Given the description of an element on the screen output the (x, y) to click on. 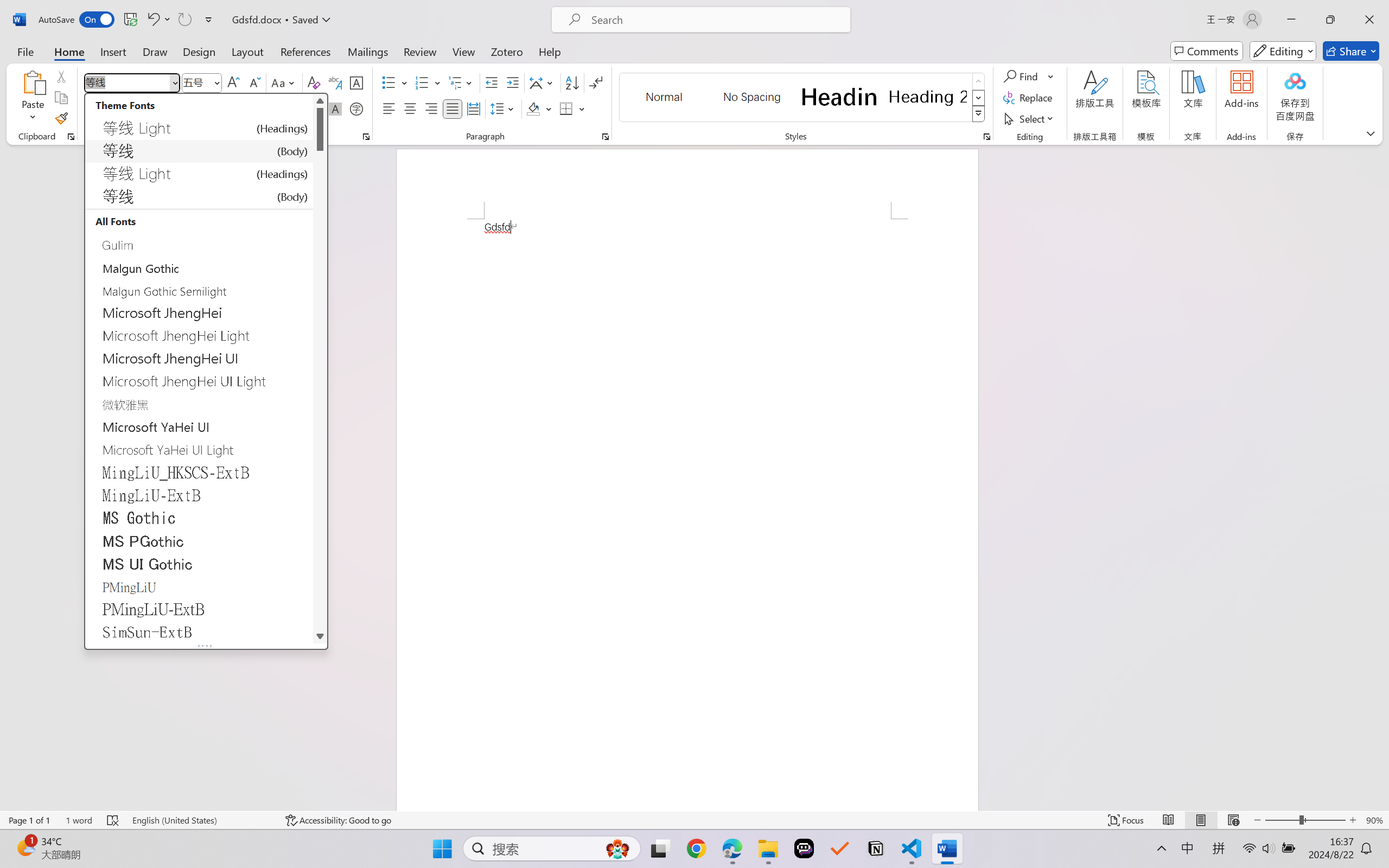
MingLiU_HKSCS-ExtB (198, 472)
Styles (978, 113)
MingLiU-ExtB (198, 495)
Zoom 90% (1374, 819)
